Given the description of an element on the screen output the (x, y) to click on. 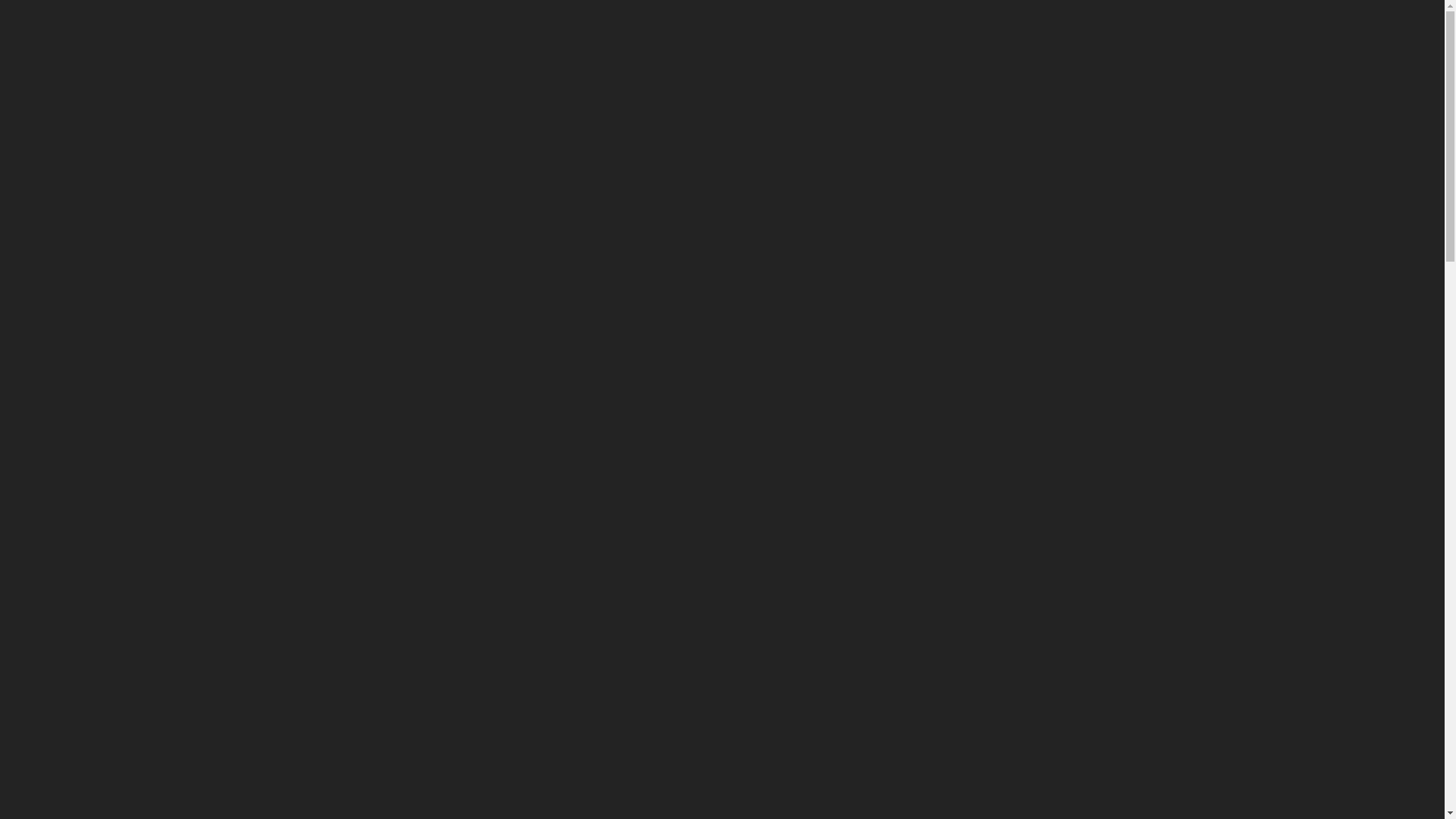
Tigercat Harvesters Element type: text (1083, 243)
Tigercat Skidders Element type: text (1083, 151)
Tigercat Feller Bunchers Element type: text (1083, 335)
Tigercat Loggers Element type: text (1083, 702)
Tigercat Forwarders Element type: text (1083, 518)
Tigercat Log Loaders Element type: text (1083, 610)
1300 727 520 Element type: text (1303, 40)
Tigercat Shovel Loggers Element type: text (1083, 427)
